Given the description of an element on the screen output the (x, y) to click on. 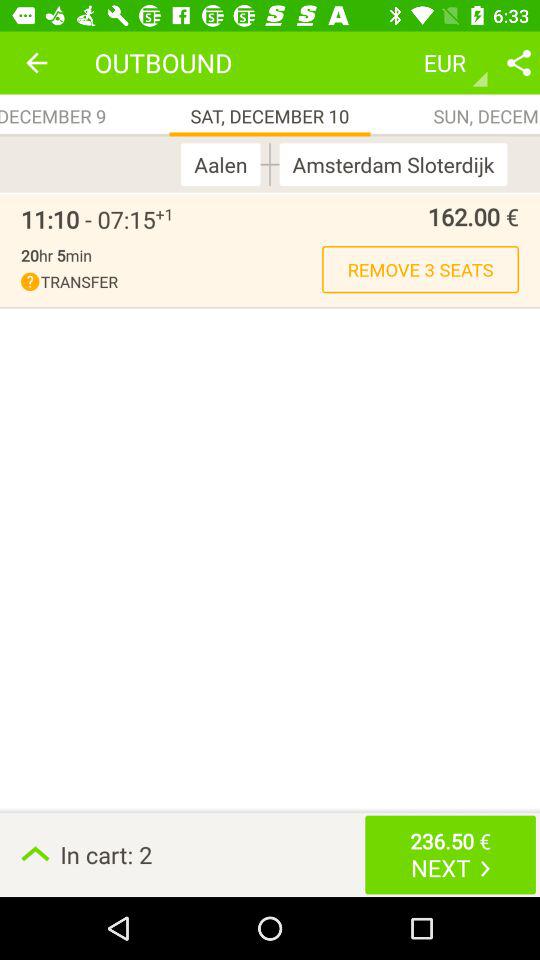
jump until the 20hr 5min item (56, 255)
